Given the description of an element on the screen output the (x, y) to click on. 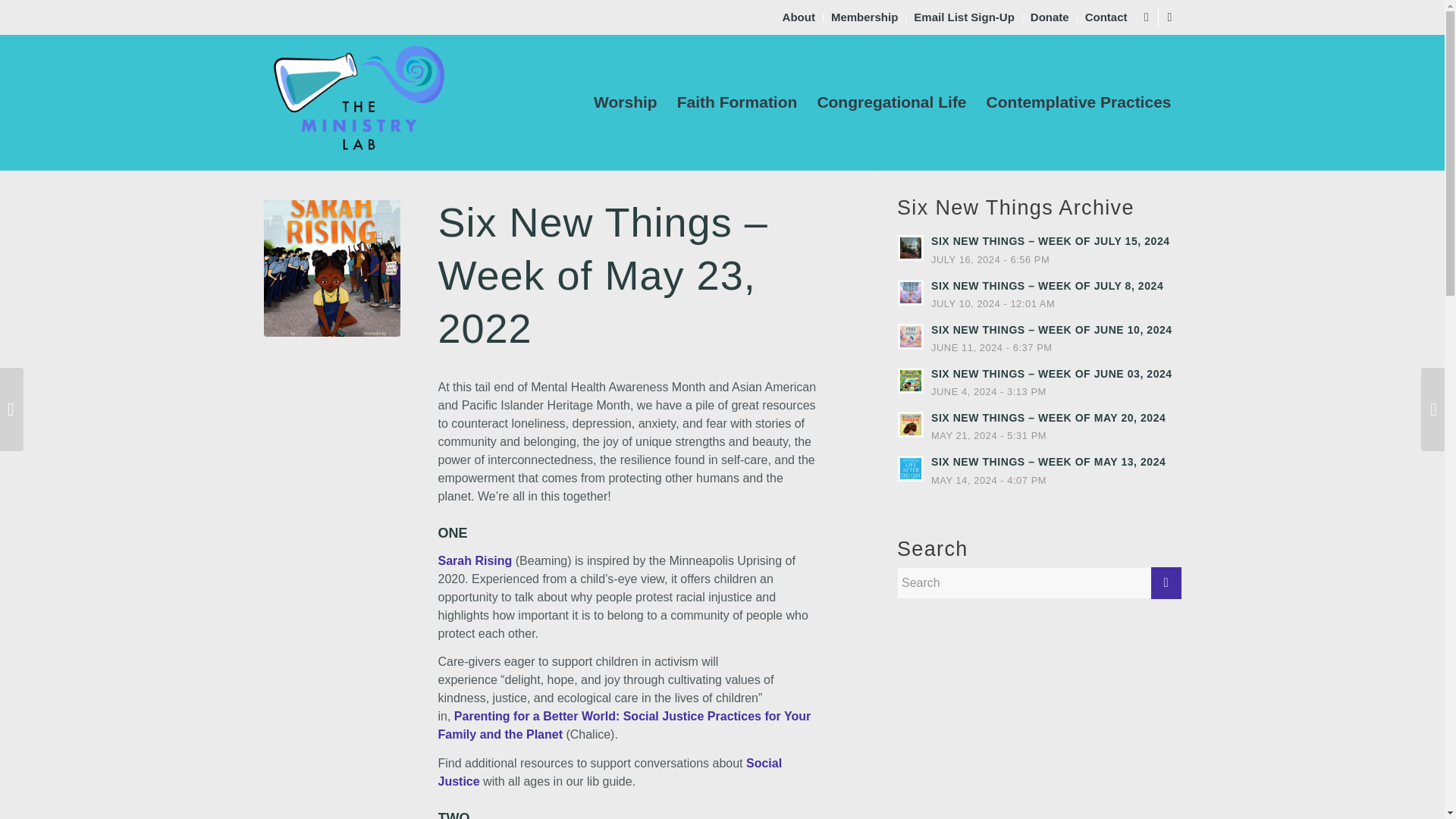
Faith Formation (737, 102)
Social Justice (610, 771)
Contact (1105, 16)
Email List Sign-Up (964, 16)
Mail (1169, 16)
Donate (1049, 16)
Sarah Rising (475, 560)
Congregational Life (890, 102)
Membership (864, 16)
About (799, 16)
Facebook (1146, 16)
Sarah Rising (331, 267)
Contemplative Practices (1078, 102)
